Given the description of an element on the screen output the (x, y) to click on. 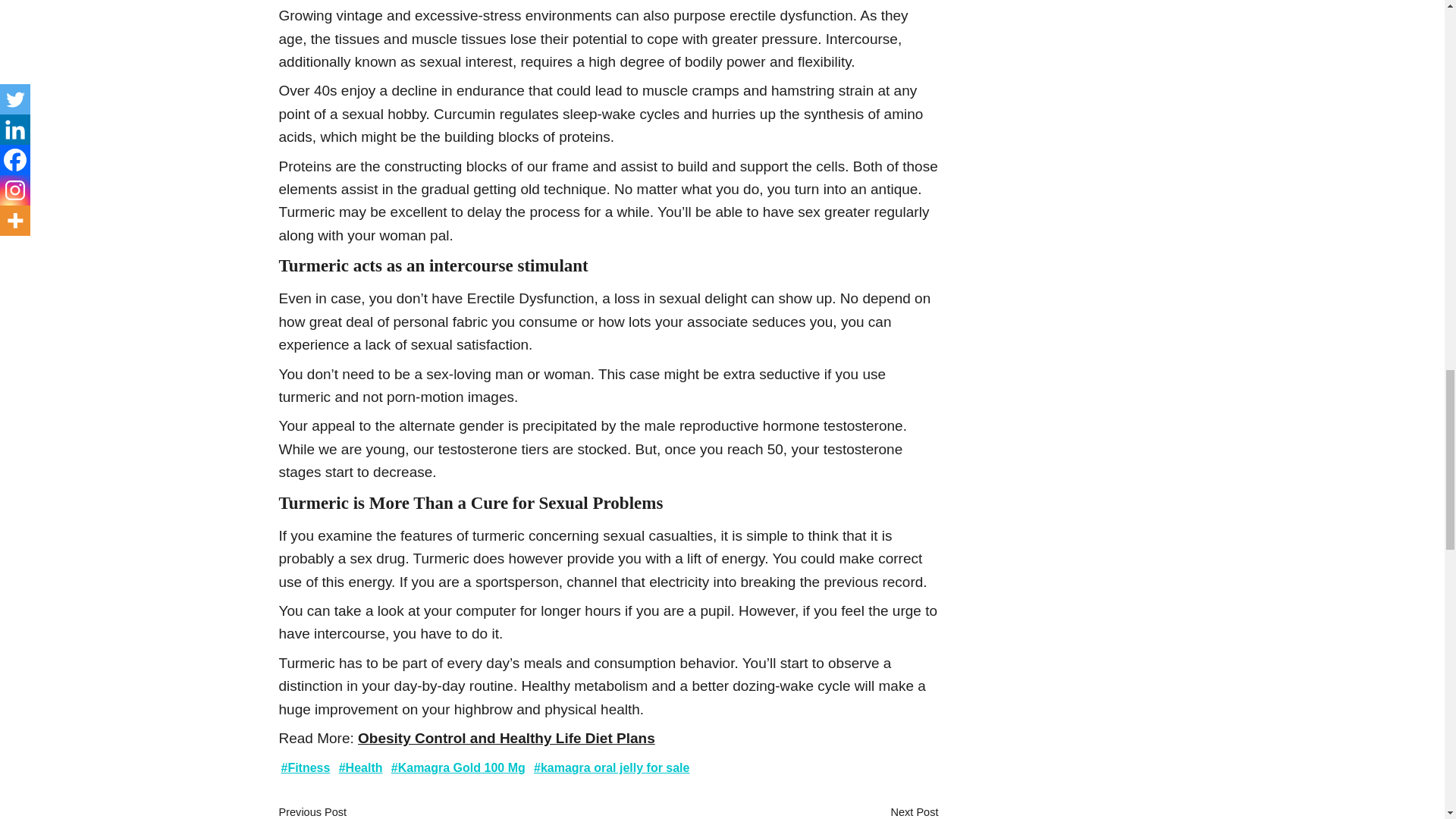
Obesity Control and Healthy Life Diet Plans (506, 738)
